Given the description of an element on the screen output the (x, y) to click on. 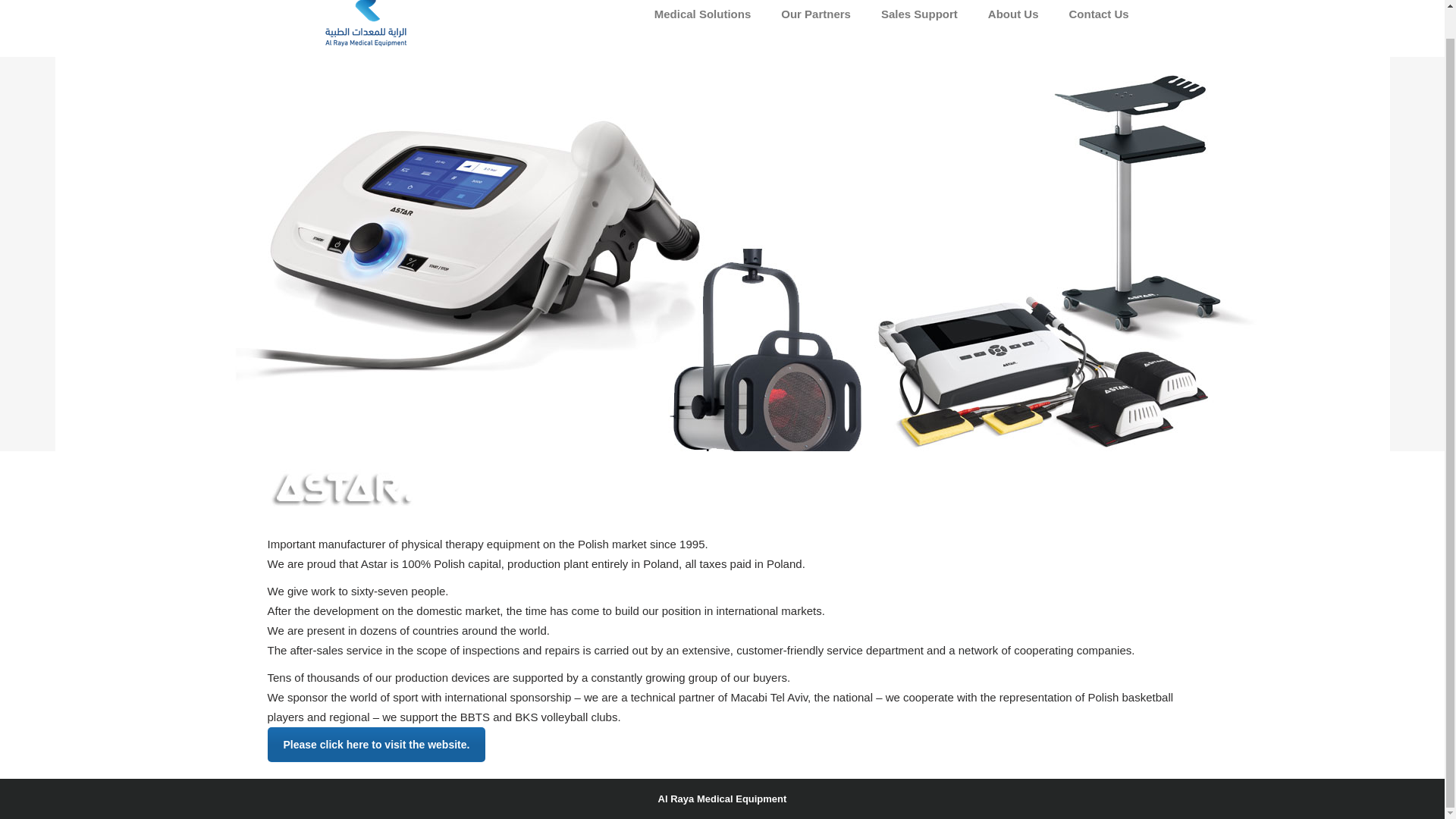
Contact Us (1097, 15)
Our Partners (815, 15)
About Us (1013, 15)
Please click here to visit the website. (375, 744)
Sales Support (919, 15)
Medical Solutions (703, 15)
